Given the description of an element on the screen output the (x, y) to click on. 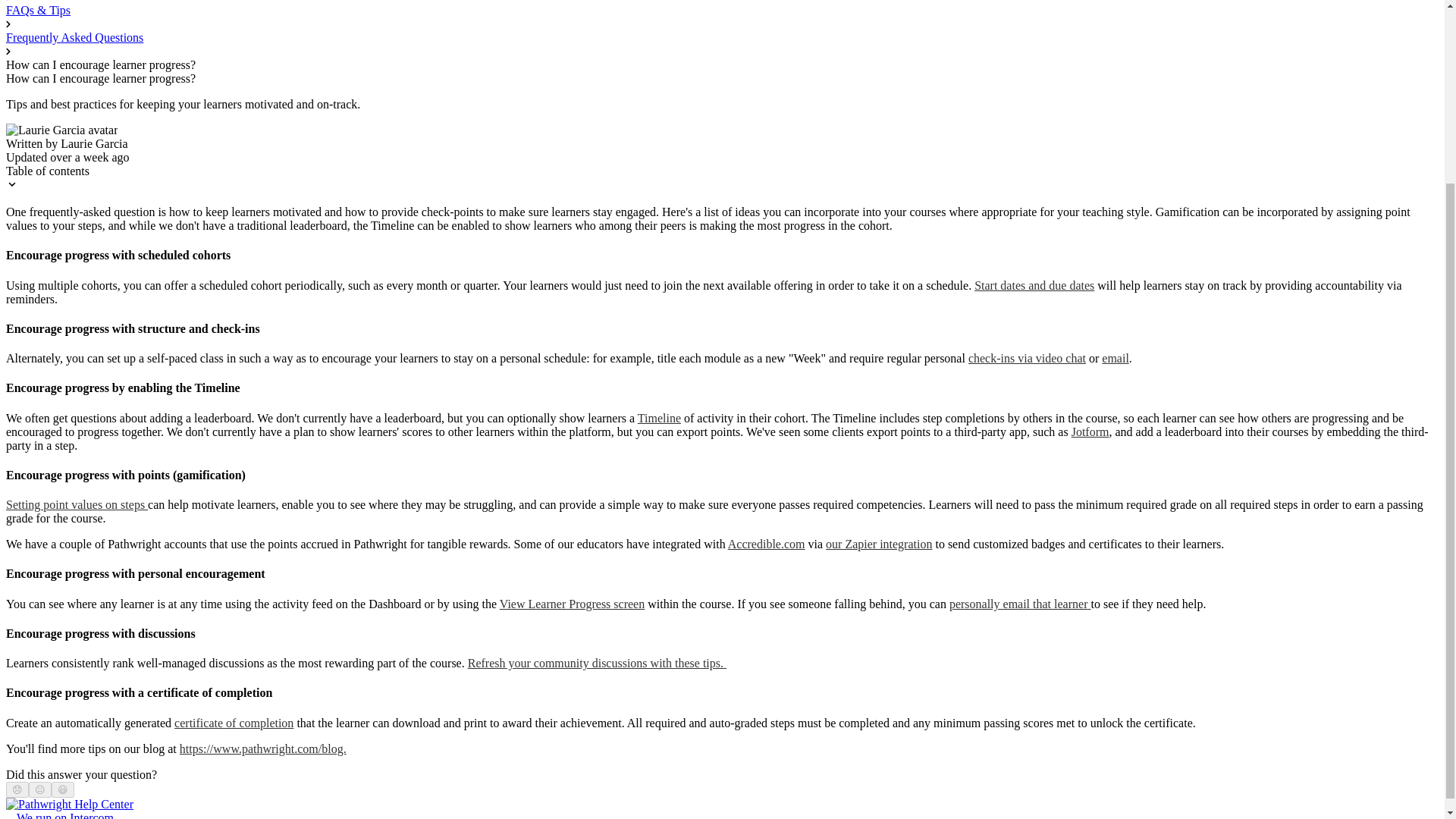
Smiley (63, 789)
Accredible.com (766, 543)
our Zapier integration (878, 543)
Start dates and due dates (1034, 285)
personally email that learner (1019, 603)
Frequently Asked Questions (73, 37)
Neutral (39, 789)
Setting point values on steps (76, 504)
check-ins via video chat (1027, 358)
email (1115, 358)
